Given the description of an element on the screen output the (x, y) to click on. 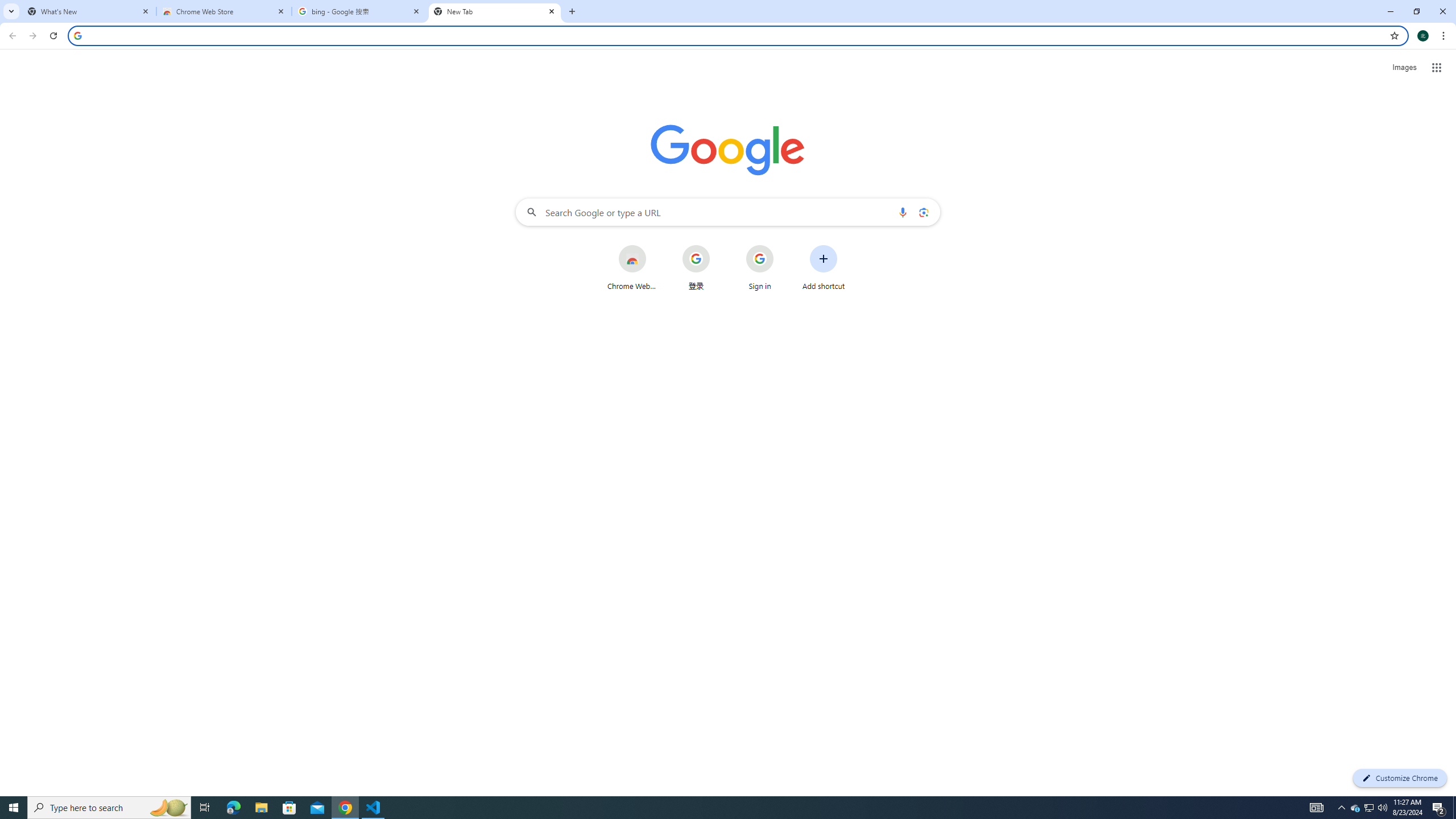
Undo Apply Quick Style Set (165, 18)
AutomationID: QuickStylesSets (557, 91)
Black & White (Classic) (397, 91)
Editing (1355, 48)
